Given the description of an element on the screen output the (x, y) to click on. 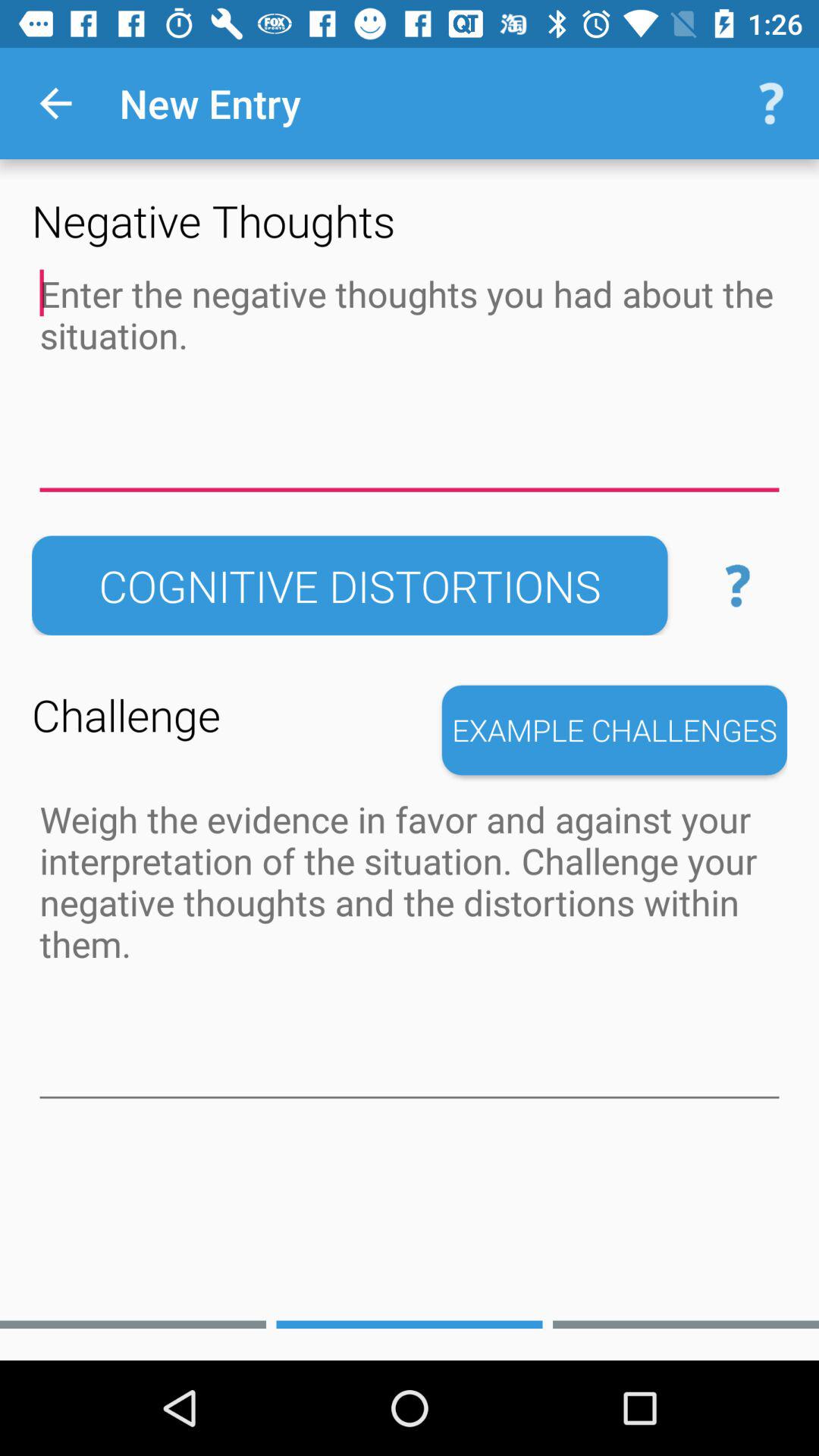
scroll until cognitive distortions item (349, 585)
